Given the description of an element on the screen output the (x, y) to click on. 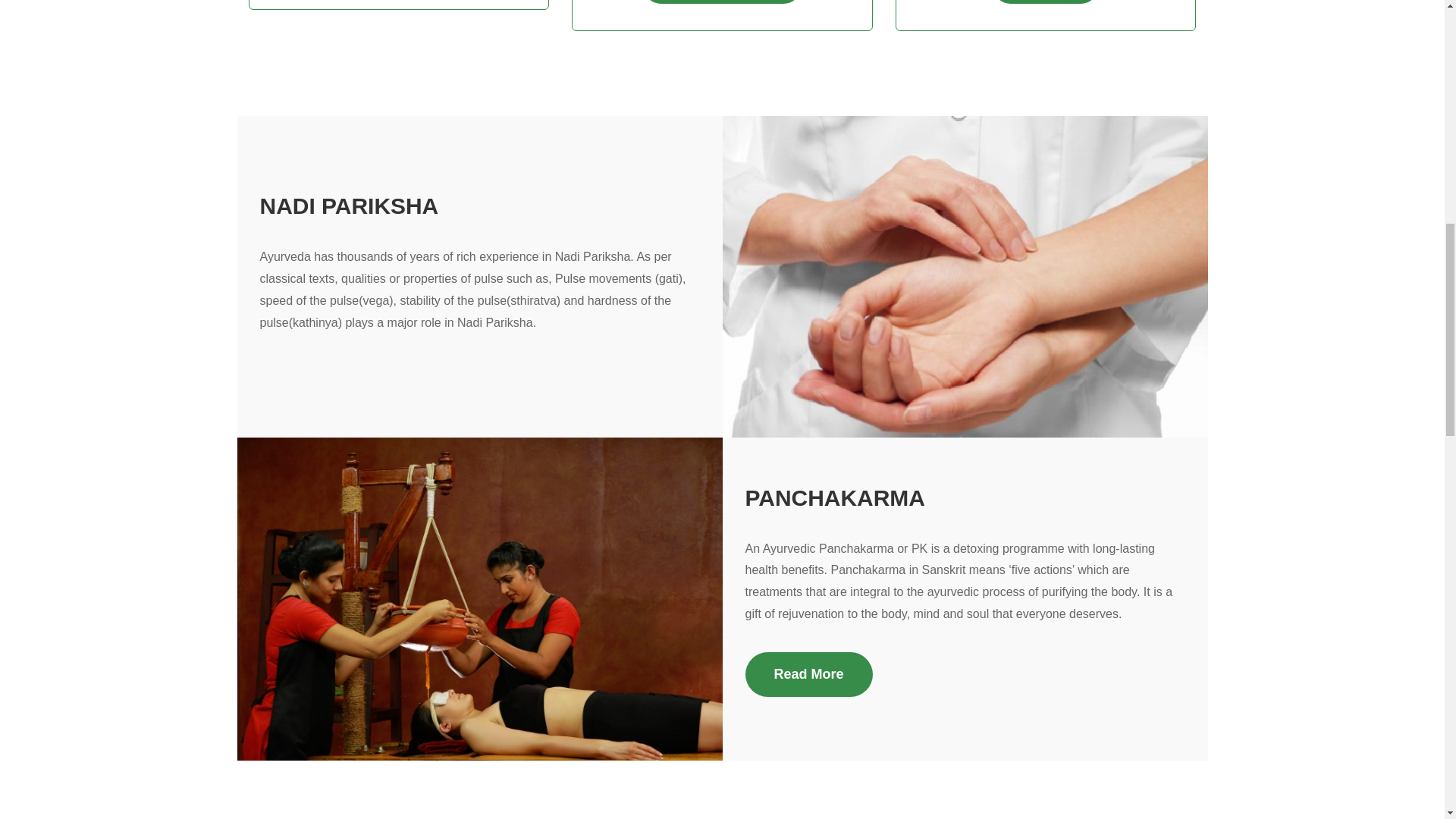
Read More (808, 673)
View Now (1045, 2)
View Our Products (722, 2)
